Given the description of an element on the screen output the (x, y) to click on. 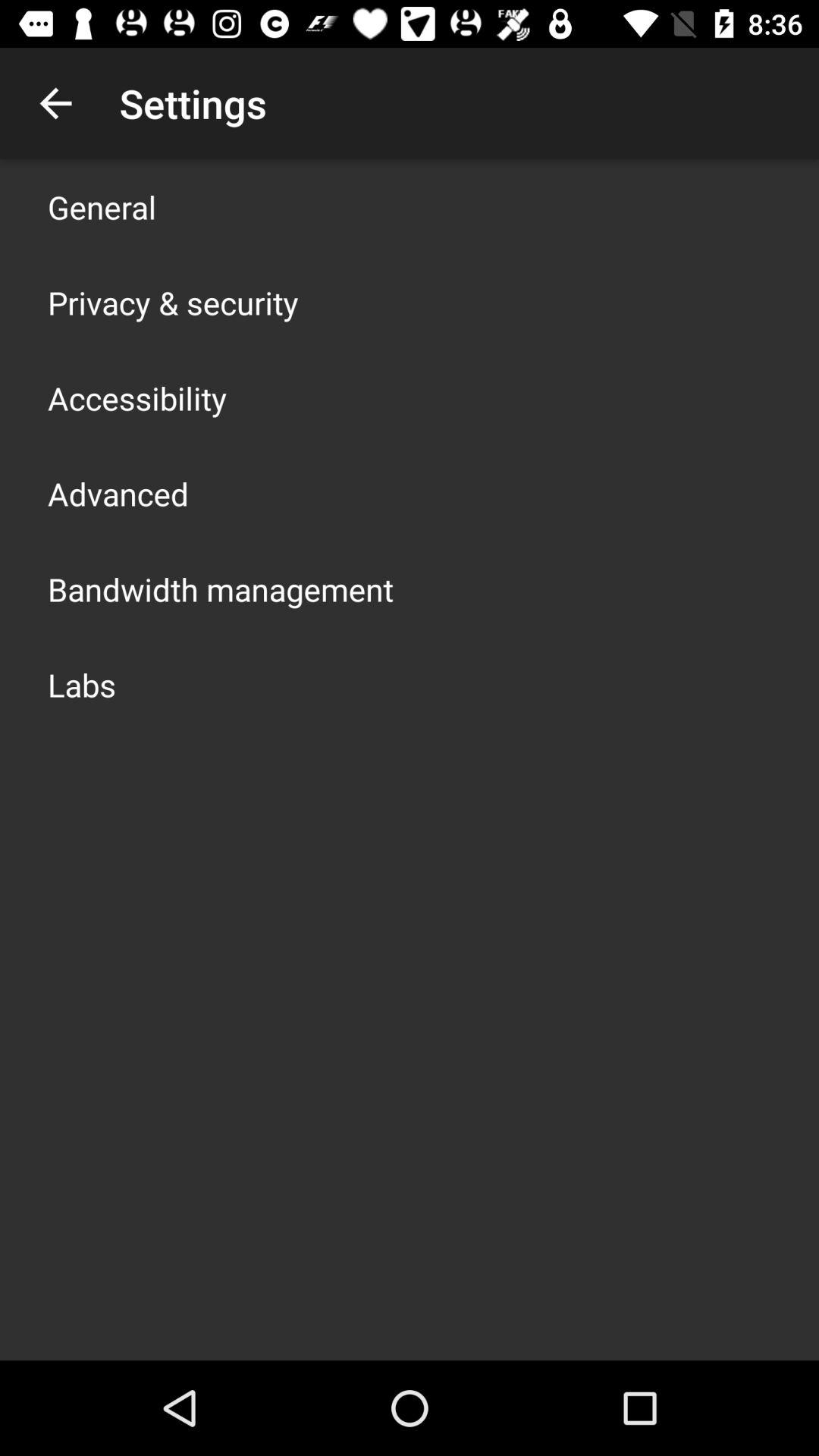
tap labs icon (81, 684)
